Given the description of an element on the screen output the (x, y) to click on. 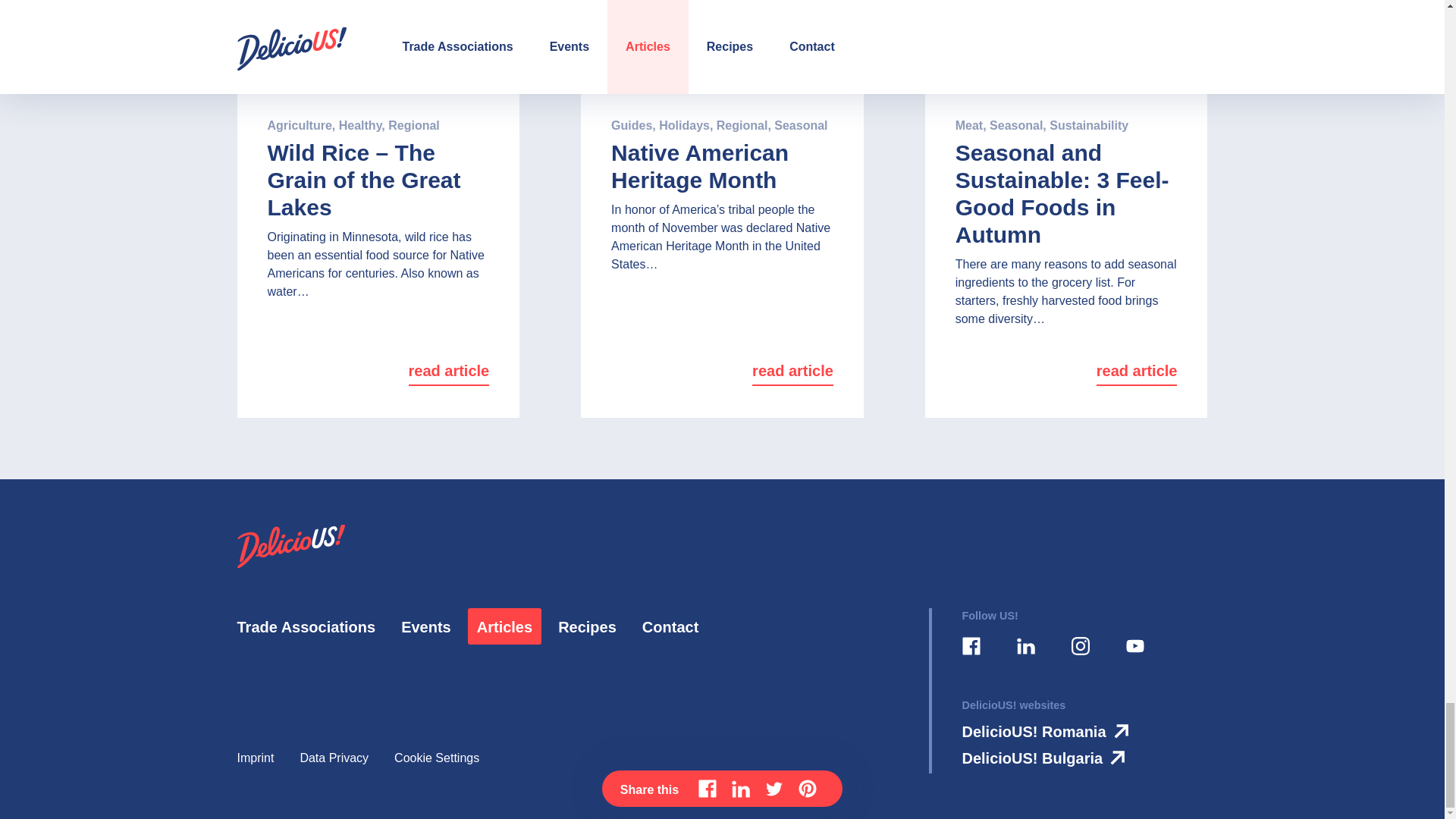
Trade Associations (305, 627)
DelicioUS! Romania (1047, 731)
LinkedIn (1025, 645)
Instagram (1079, 645)
YouTube (1134, 645)
Facebook (970, 645)
DelicioUS! Bulgaria (1046, 757)
